Given the description of an element on the screen output the (x, y) to click on. 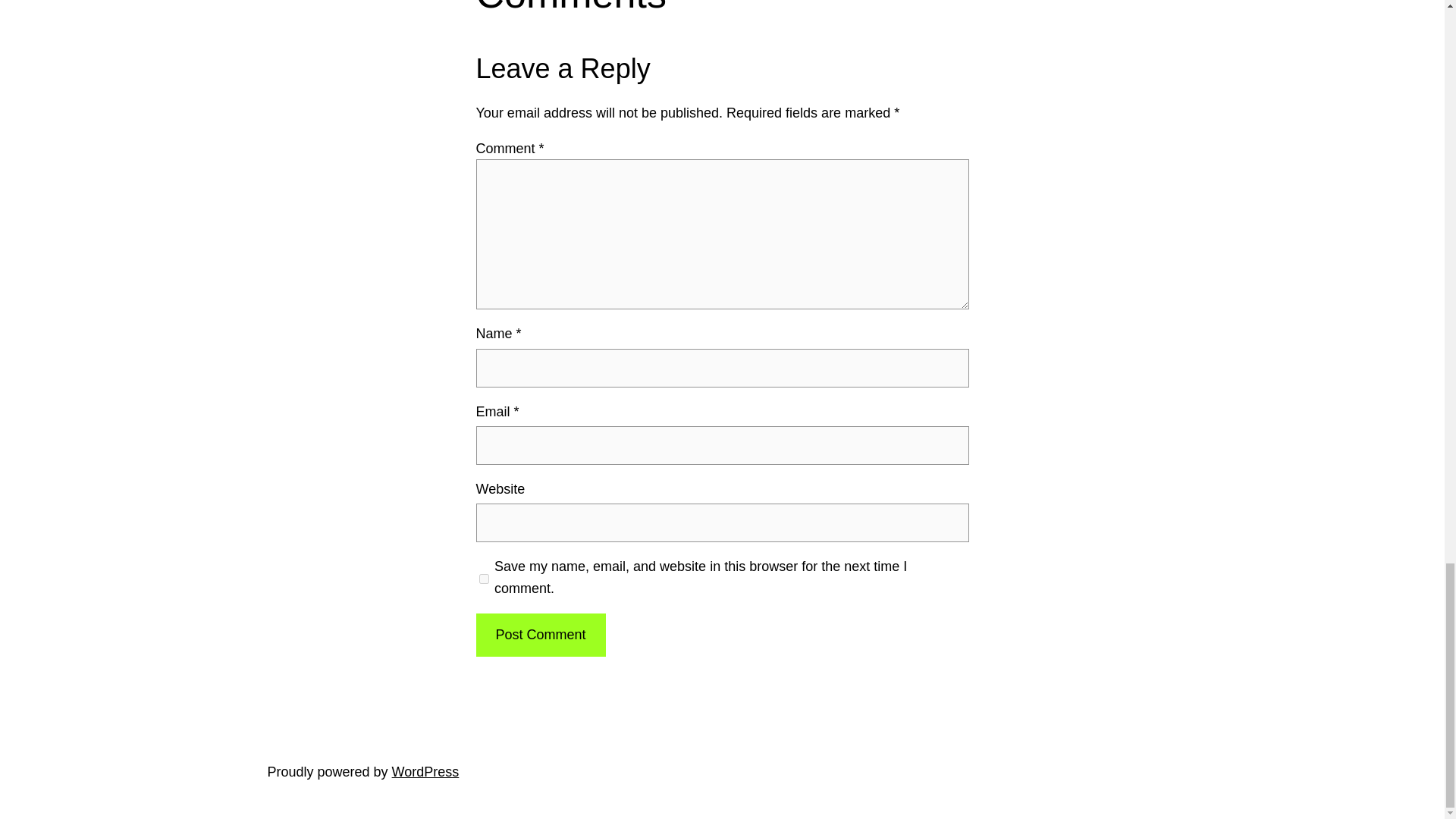
WordPress (425, 771)
Post Comment (540, 634)
Post Comment (540, 634)
